Given the description of an element on the screen output the (x, y) to click on. 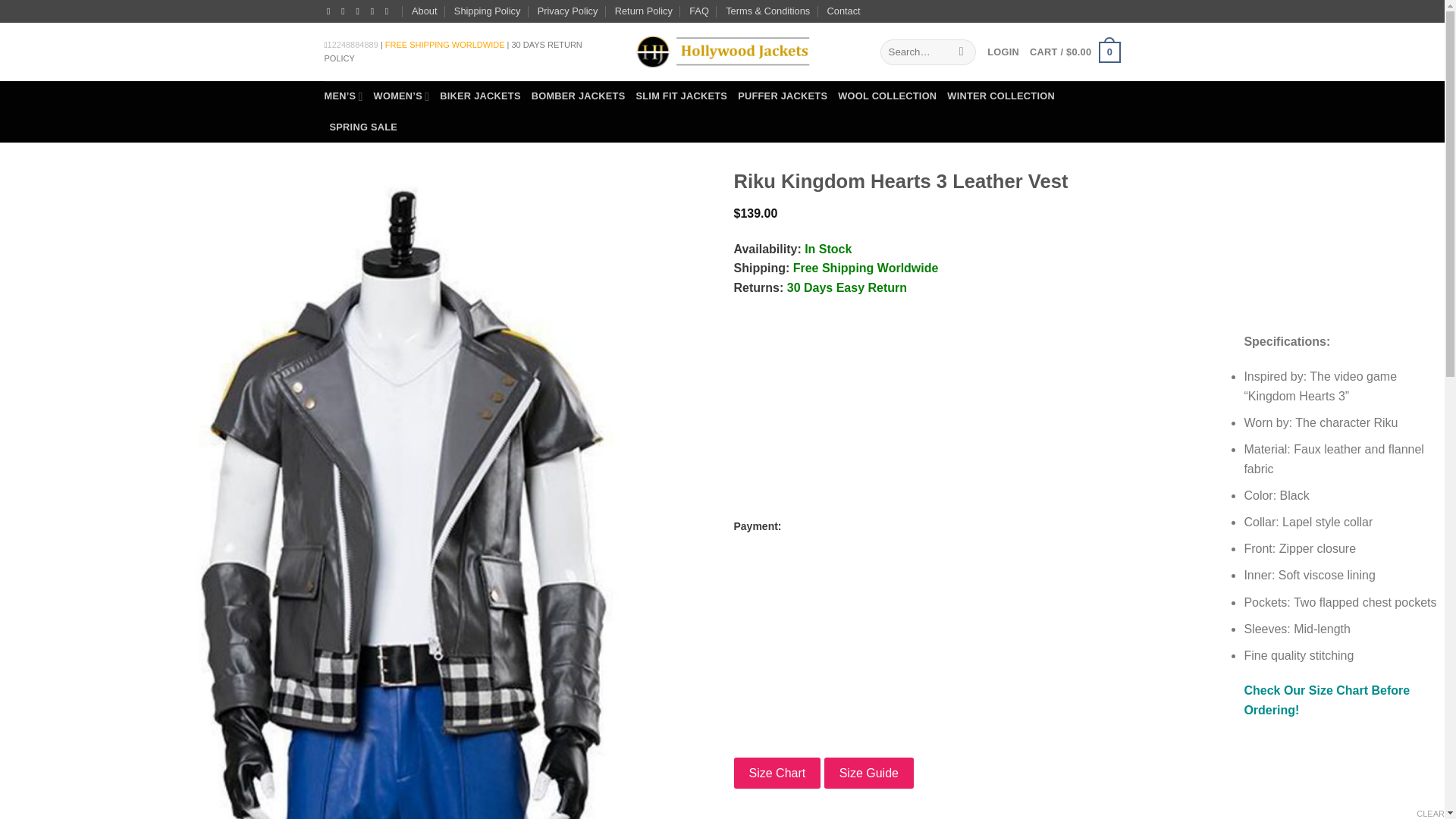
Hollywood Jackets - Hollywood Jackets (721, 52)
Search (961, 52)
Follow on Facebook (331, 10)
FAQ (698, 11)
Return Policy (643, 11)
Follow on Twitter (360, 10)
About (424, 11)
Cart (1074, 52)
Send us an email (375, 10)
Contact (843, 11)
Follow on Pinterest (389, 10)
Privacy Policy (567, 11)
Shipping Policy (487, 11)
LOGIN (1003, 51)
